Given the description of an element on the screen output the (x, y) to click on. 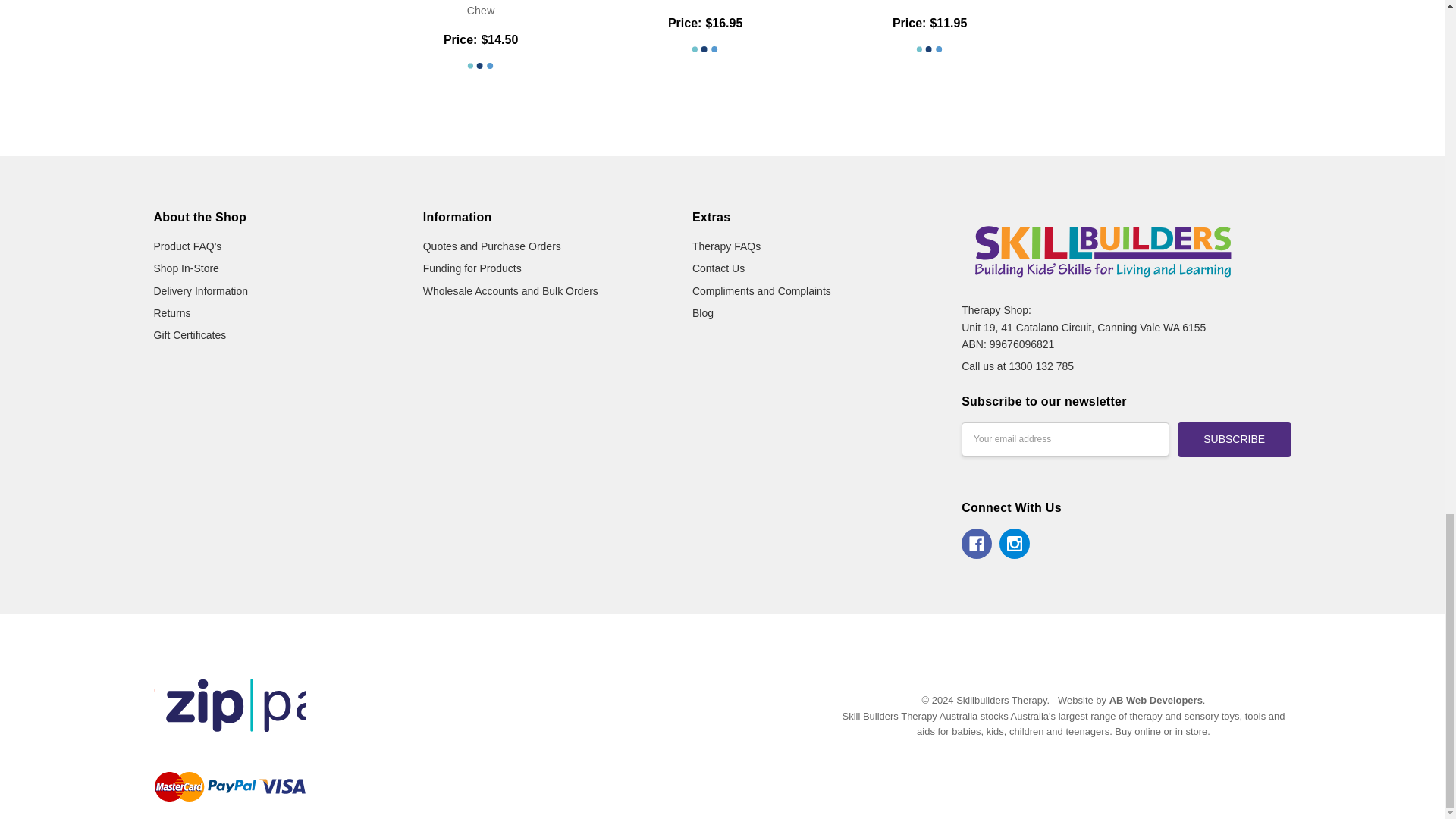
Subscribe (1234, 439)
